Given the description of an element on the screen output the (x, y) to click on. 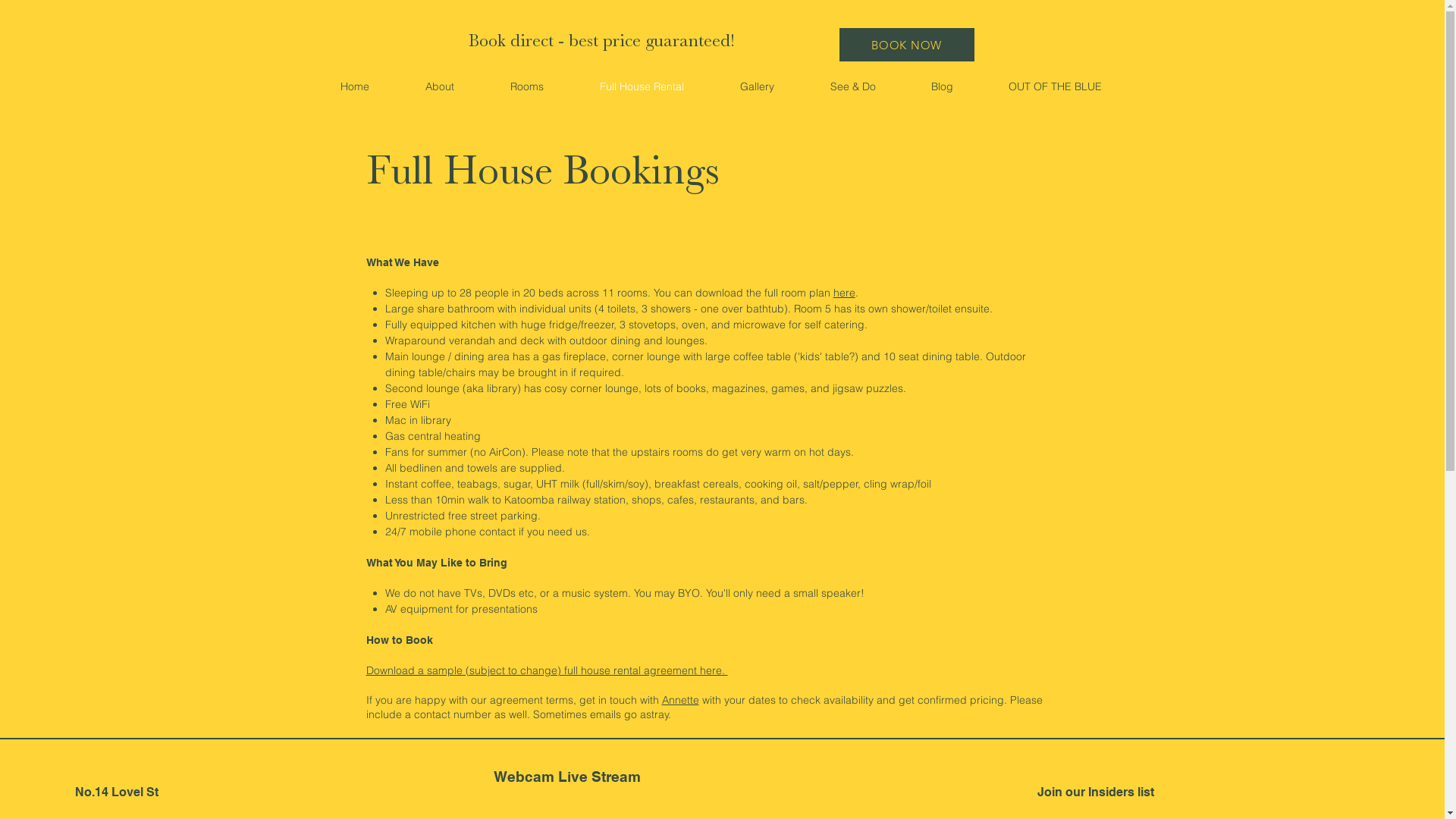
See & Do Element type: text (852, 86)
here Element type: text (844, 292)
Blog Element type: text (942, 86)
Full House Rental Element type: text (641, 86)
About Element type: text (439, 86)
BOOK NOW Element type: text (905, 44)
Annette Element type: text (679, 699)
Gallery Element type: text (756, 86)
OUT OF THE BLUE Element type: text (1055, 86)
Home Element type: text (354, 86)
Rooms Element type: text (526, 86)
